Given the description of an element on the screen output the (x, y) to click on. 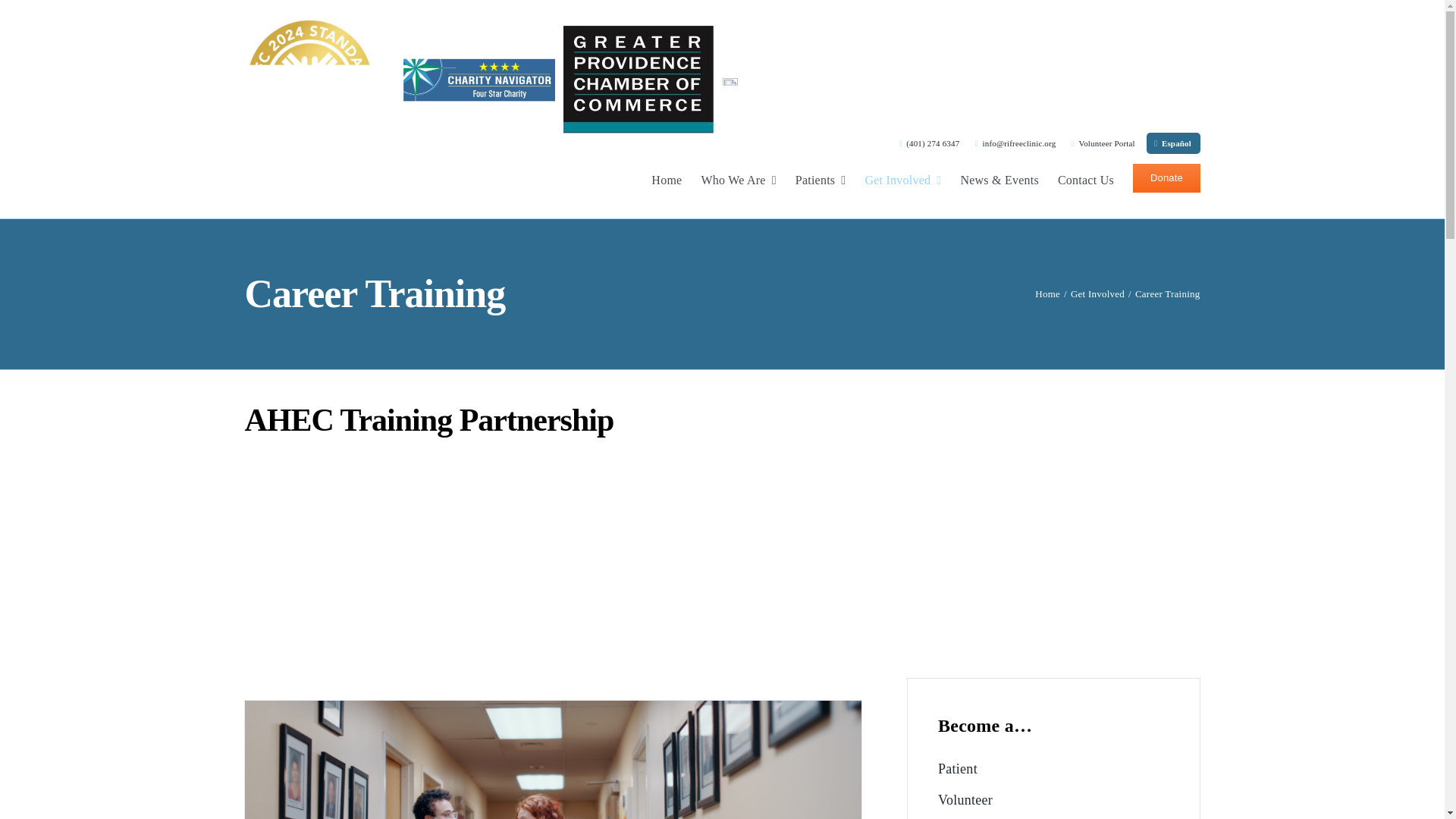
Volunteer Portal (1094, 143)
Home (665, 179)
Contact Us (1085, 179)
Who We Are (738, 179)
Donate (1165, 177)
Get Involved (902, 179)
Patients (819, 179)
